Given the description of an element on the screen output the (x, y) to click on. 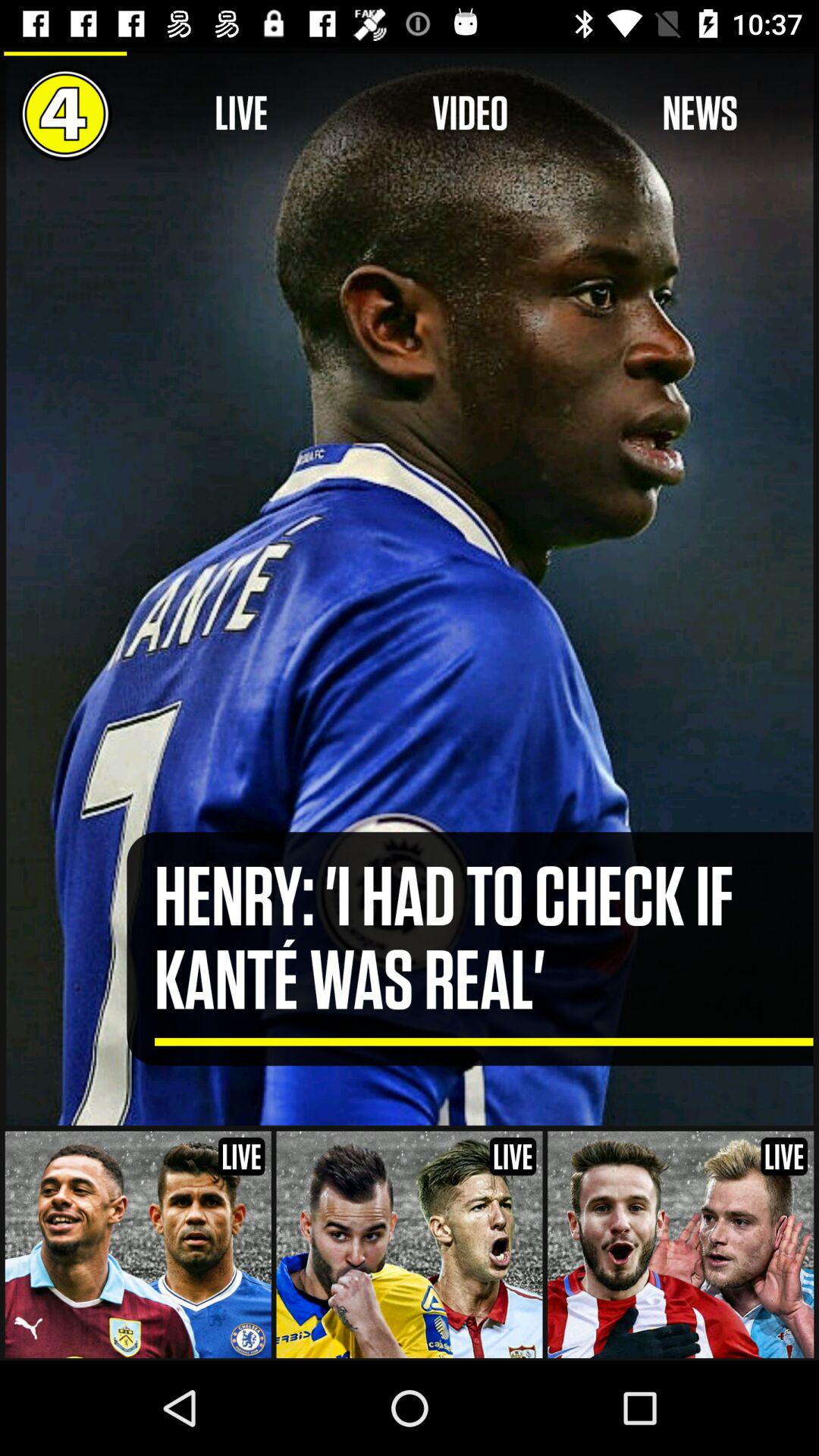
choose video (470, 113)
